Given the description of an element on the screen output the (x, y) to click on. 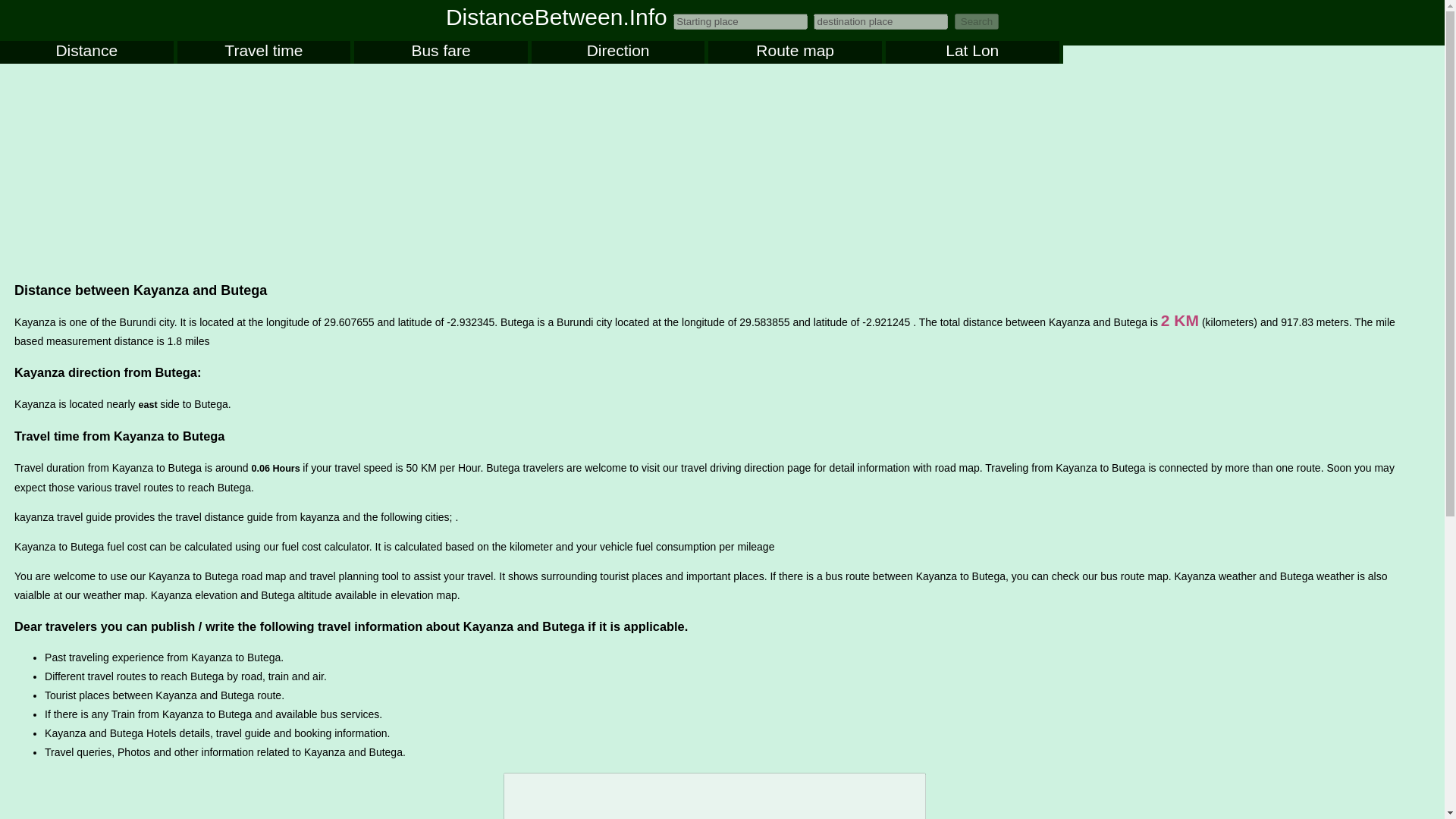
Distance (86, 51)
Route map (794, 51)
Bus fare (440, 51)
Starting place (740, 21)
destination place (880, 21)
Direction (617, 51)
Travel time (263, 51)
Search (976, 21)
Lat Lon (972, 51)
